Given the description of an element on the screen output the (x, y) to click on. 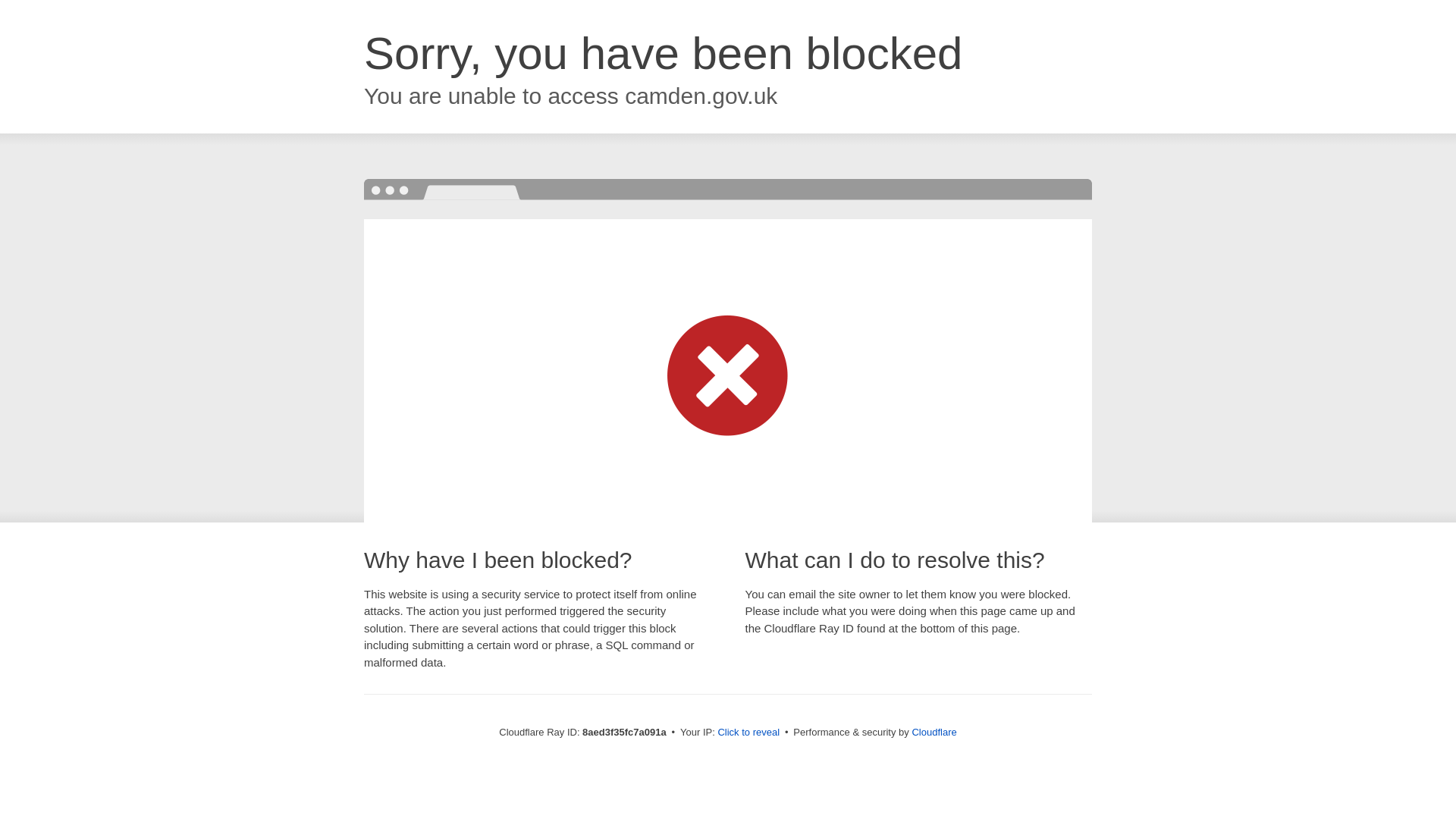
Cloudflare (933, 731)
Click to reveal (747, 732)
